Given the description of an element on the screen output the (x, y) to click on. 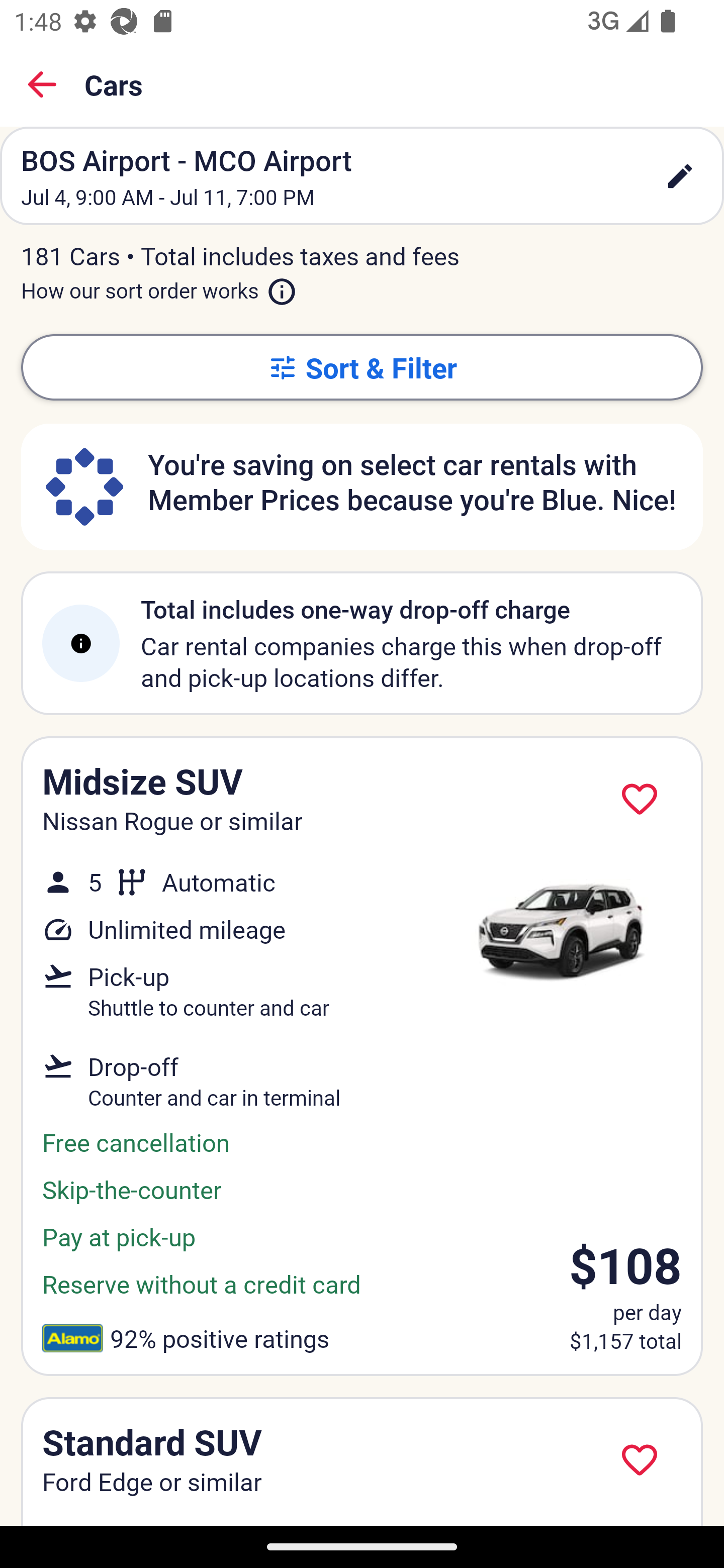
Back (42, 84)
edit (679, 175)
How our sort order works (158, 286)
Sort & Filter (361, 366)
